Given the description of an element on the screen output the (x, y) to click on. 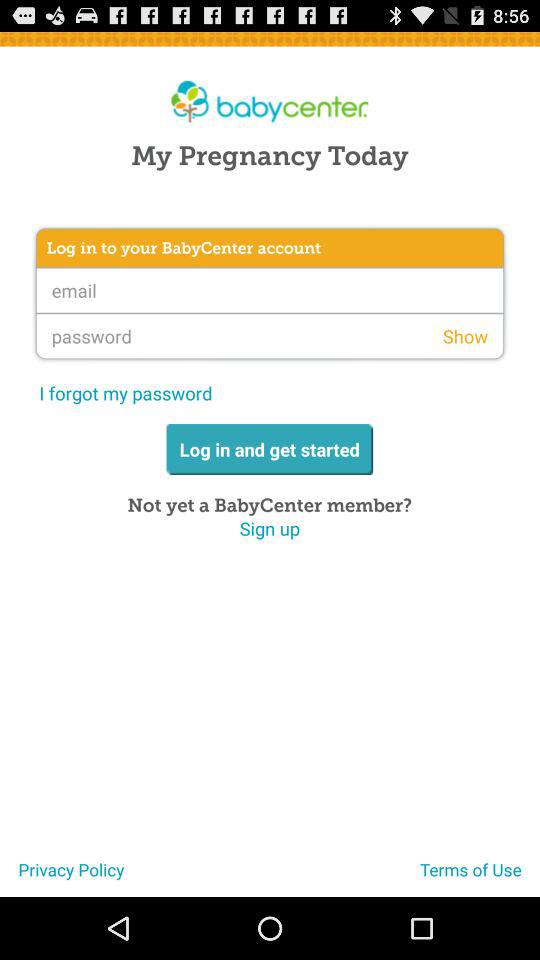
email writer (270, 290)
